Given the description of an element on the screen output the (x, y) to click on. 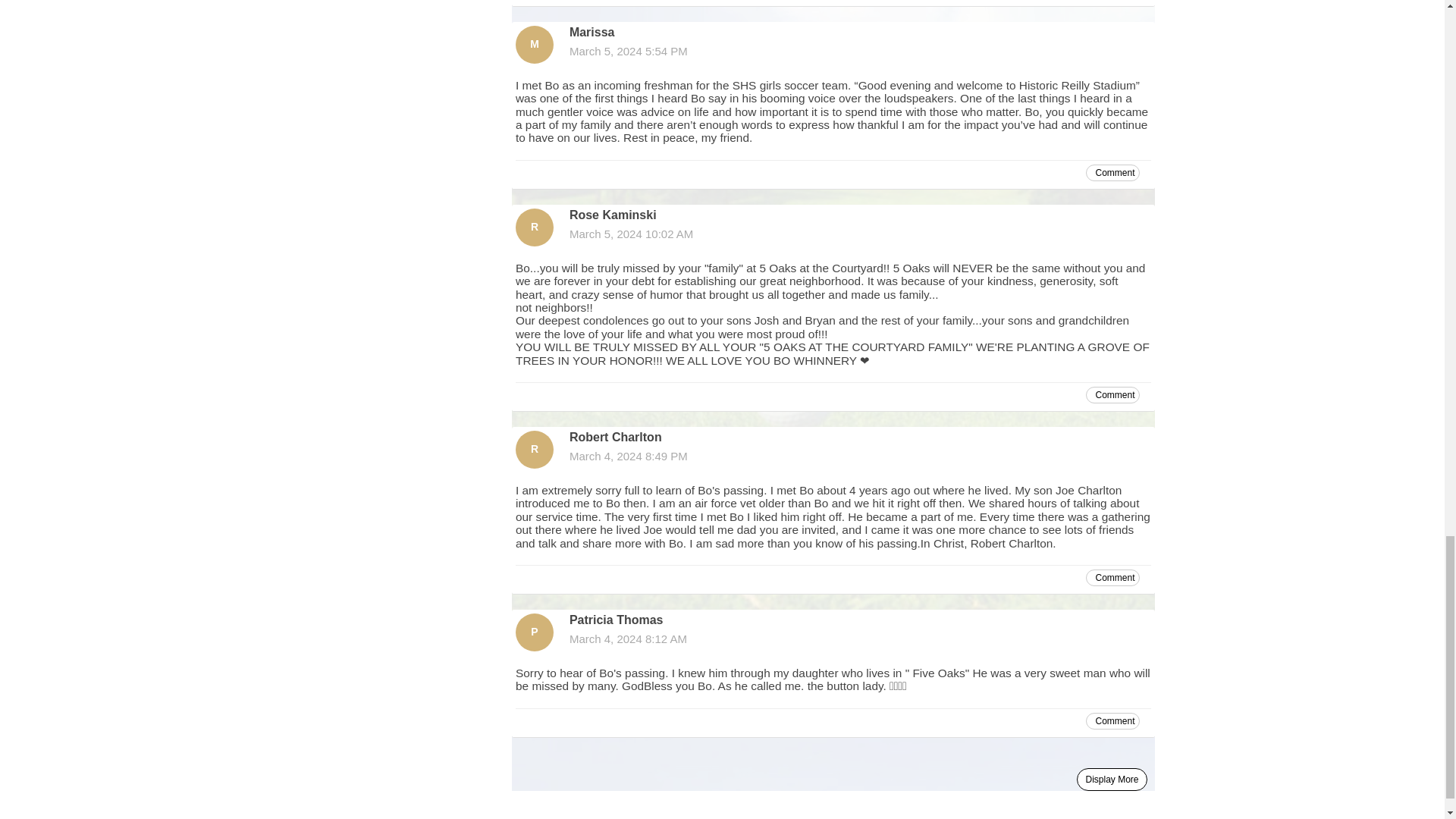
Patricia Thomas (534, 632)
  Comment (1113, 394)
  Comment (1113, 577)
  Comment (1113, 720)
Rose Kaminski (534, 227)
Robert Charlton (534, 449)
Marissa (534, 44)
Display More (1112, 779)
  Comment (1113, 172)
